Given the description of an element on the screen output the (x, y) to click on. 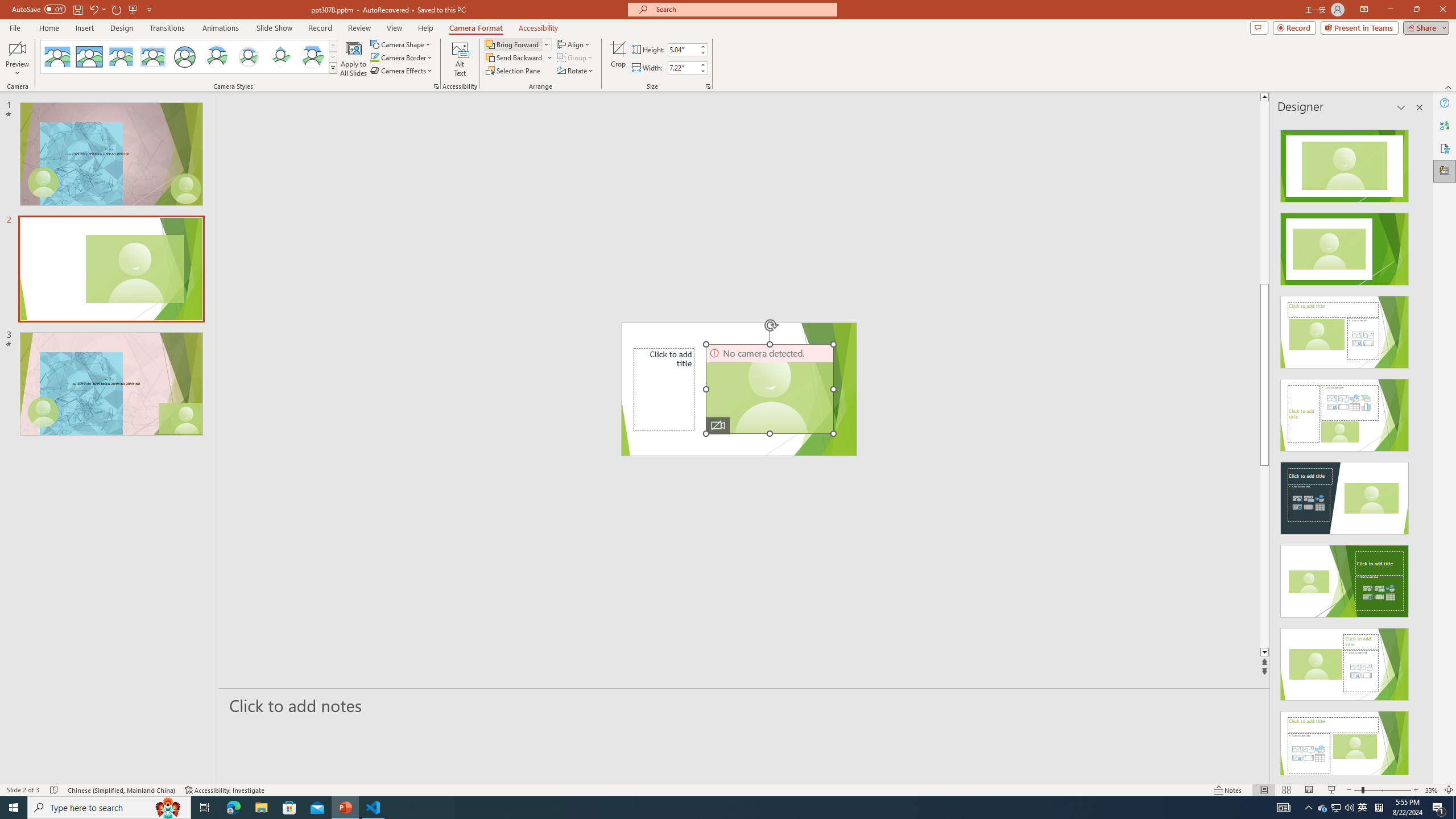
Camera Shape (400, 44)
Cameo Height (682, 49)
Rotate (575, 69)
